Given the description of an element on the screen output the (x, y) to click on. 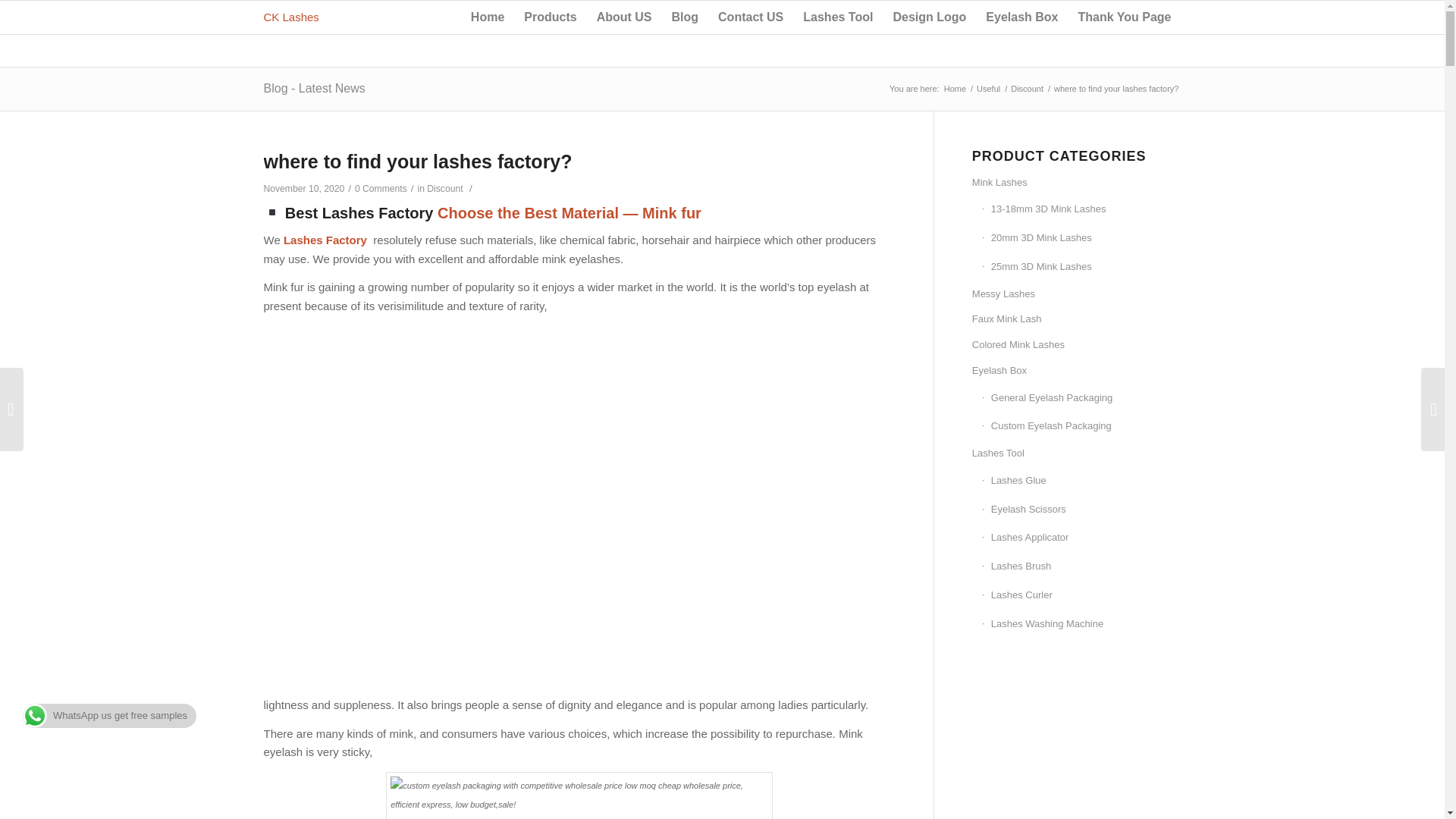
Products (549, 17)
Contact US (750, 17)
Thank You Page (1123, 17)
Permanent Link: where to find your lashes factory? (417, 160)
CK Lashes (955, 89)
About US (624, 17)
Design Logo (928, 17)
Eyelash Box (1021, 17)
CK Lashes (290, 17)
Lashes Tool (837, 17)
Blog (684, 17)
Blog - Latest News (314, 88)
Permanent Link: Blog - Latest News (314, 88)
Home (487, 17)
